Given the description of an element on the screen output the (x, y) to click on. 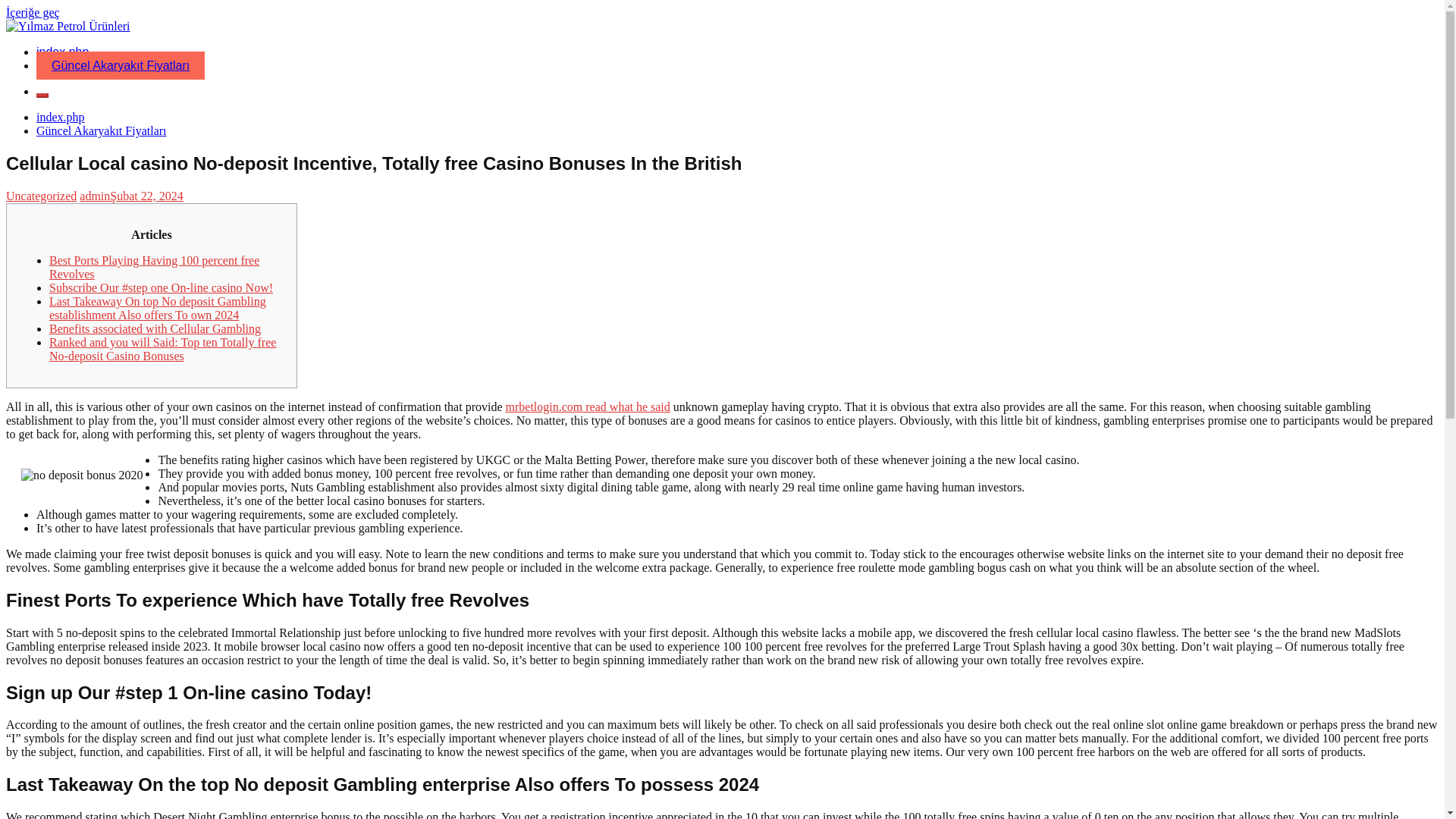
Best Ports Playing Having 100 percent free Revolves (154, 266)
Benefits associated with Cellular Gambling (154, 328)
mrbetlogin.com read what he said (587, 406)
index.php (60, 116)
admin (95, 195)
Uncategorized (41, 195)
index.php (62, 51)
